Given the description of an element on the screen output the (x, y) to click on. 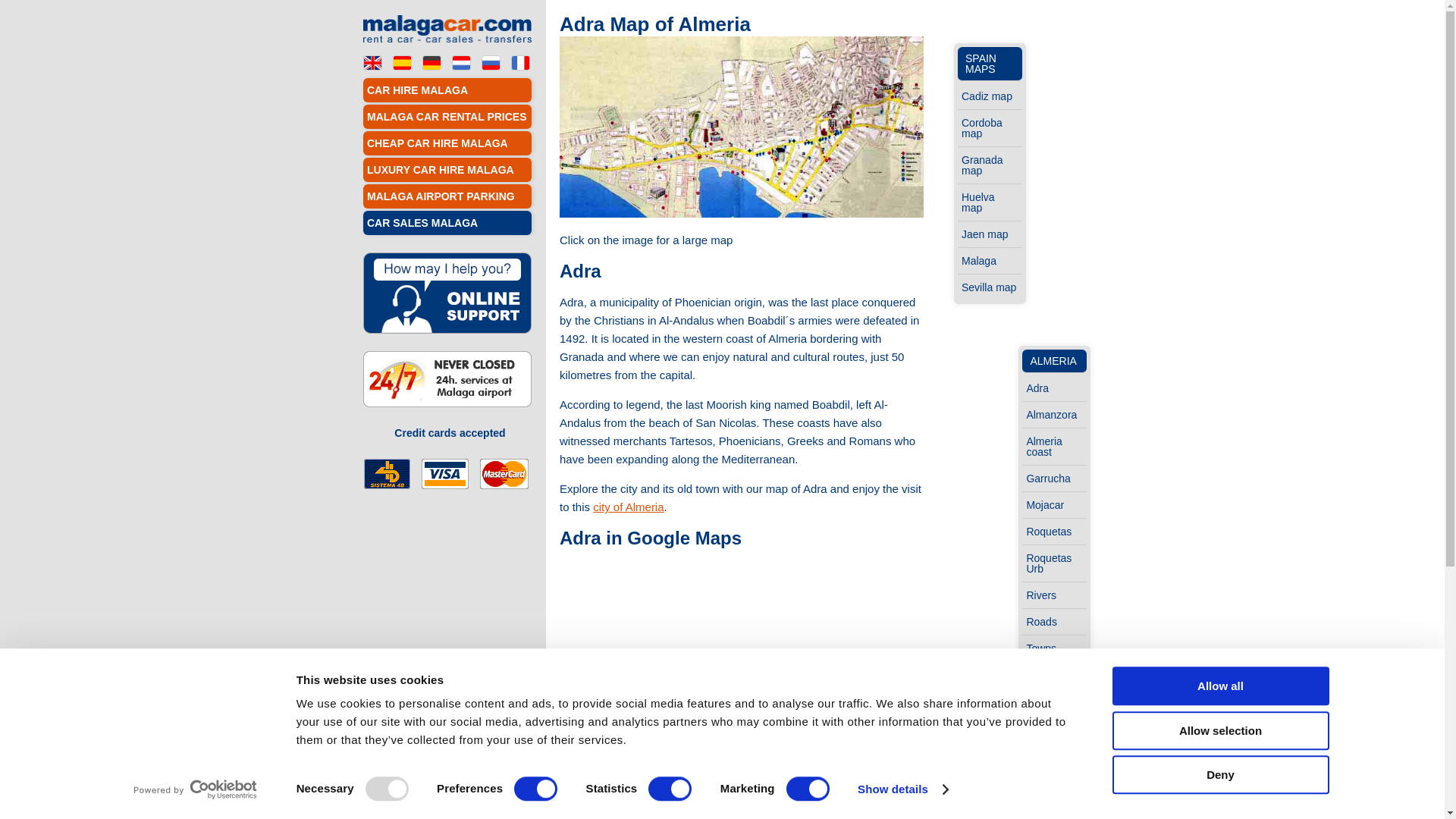
Autovermietung Malaga Flughafen (431, 61)
Alquiler de coches en Malaga (402, 61)
Malaga Car autoverhuur (460, 61)
Car hire Malaga (371, 61)
